Given the description of an element on the screen output the (x, y) to click on. 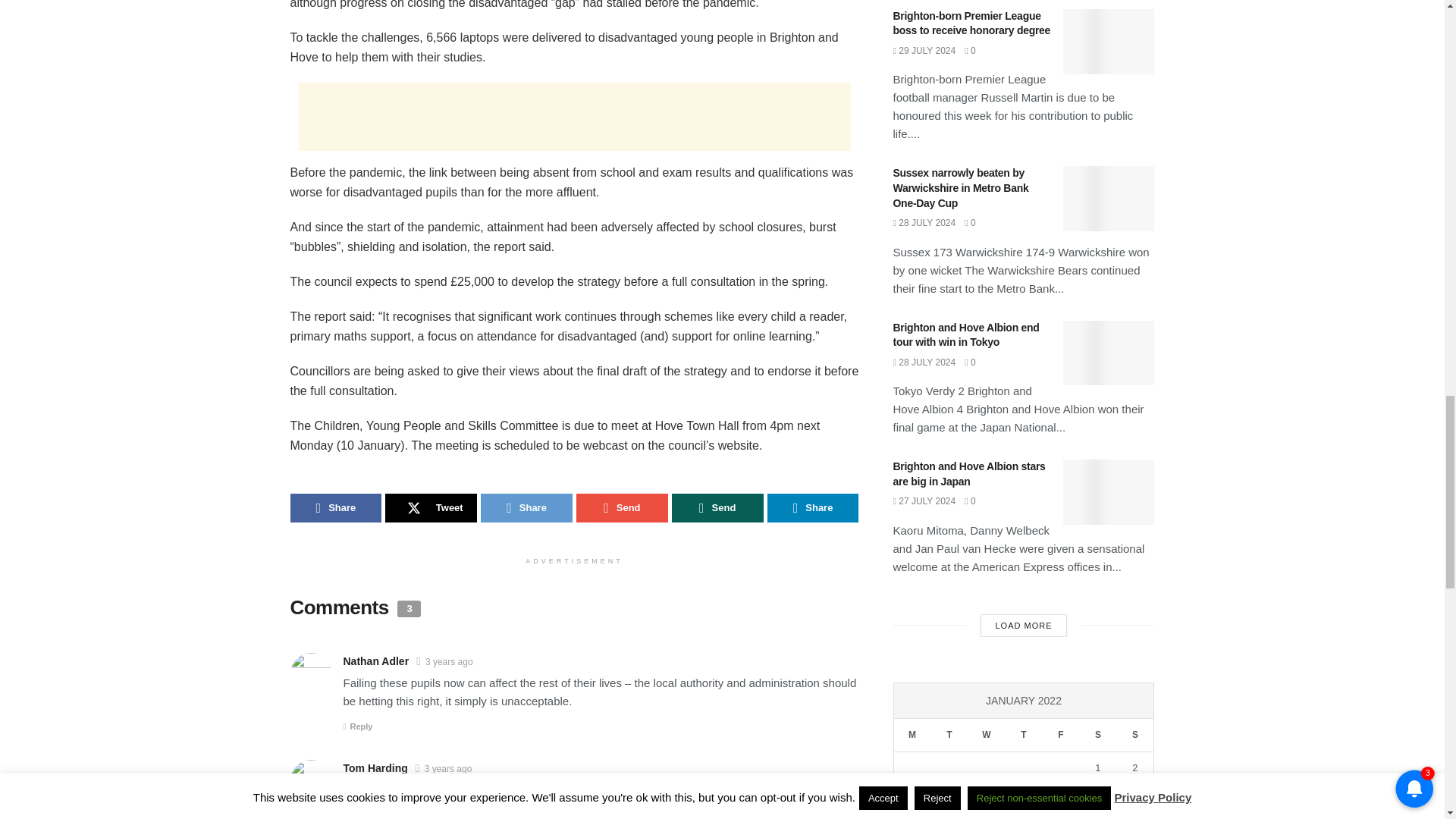
Wednesday (986, 735)
Sunday (1134, 735)
Tuesday (949, 735)
Thursday (1023, 735)
Friday (1060, 735)
Saturday (1097, 735)
Monday (911, 735)
